Given the description of an element on the screen output the (x, y) to click on. 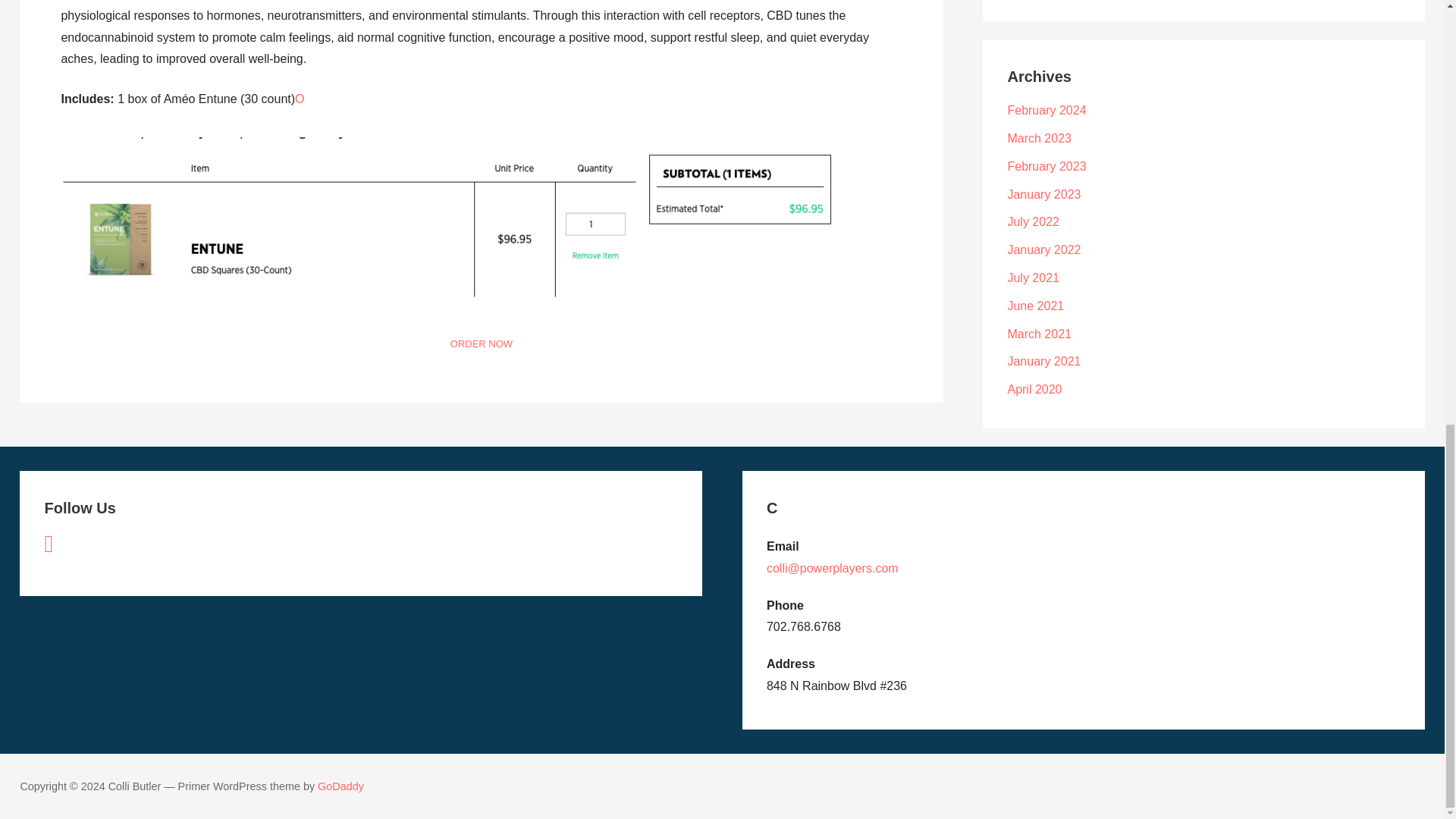
February 2023 (1046, 165)
July 2021 (1033, 277)
January 2021 (1043, 360)
GoDaddy (340, 786)
July 2022 (1033, 221)
April 2020 (1034, 389)
ORDER NOW (480, 343)
February 2024 (1046, 110)
January 2022 (1043, 249)
June 2021 (1035, 305)
March 2023 (1039, 137)
January 2023 (1043, 194)
March 2021 (1039, 333)
